Given the description of an element on the screen output the (x, y) to click on. 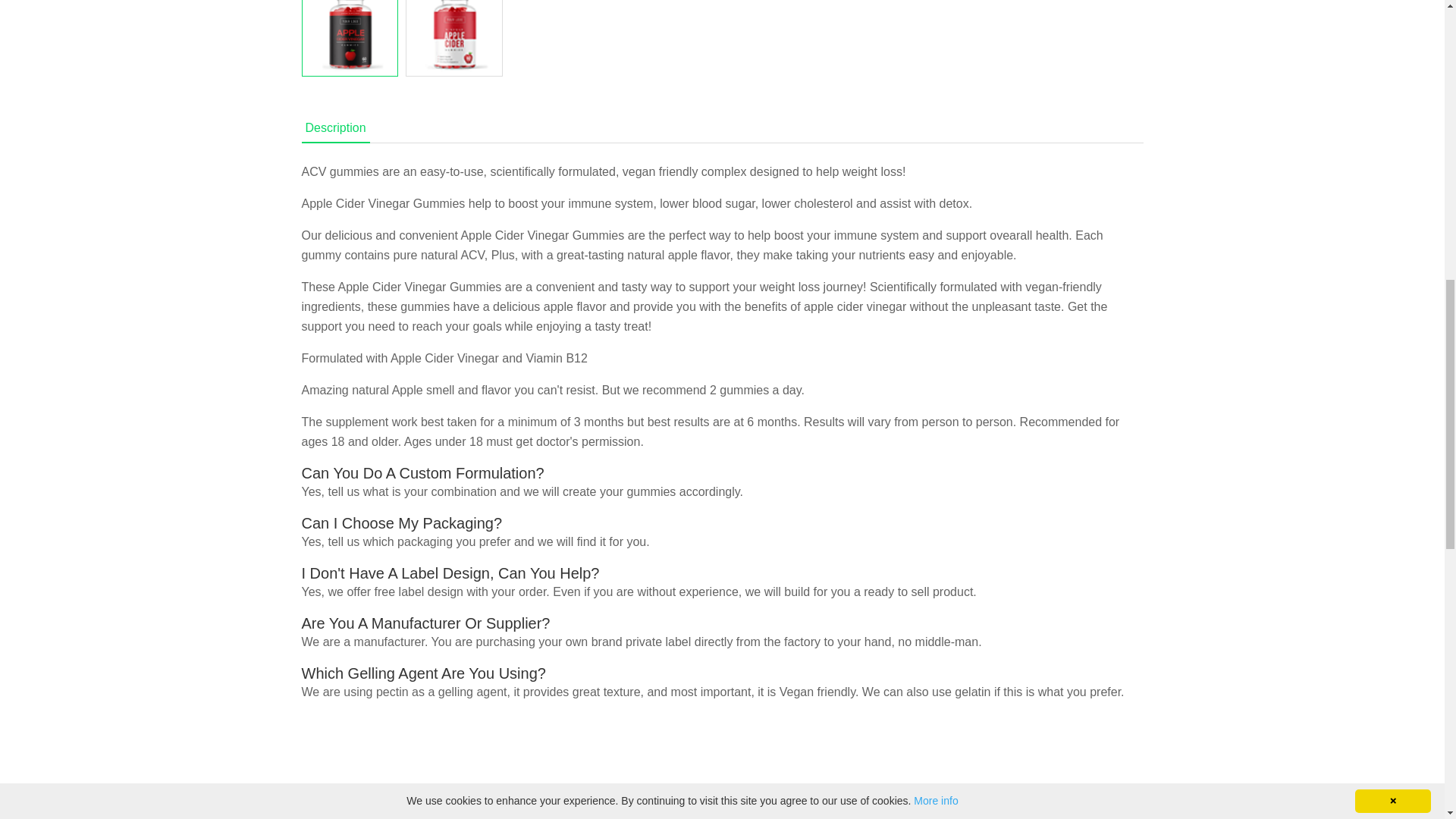
Description (335, 128)
